Given the description of an element on the screen output the (x, y) to click on. 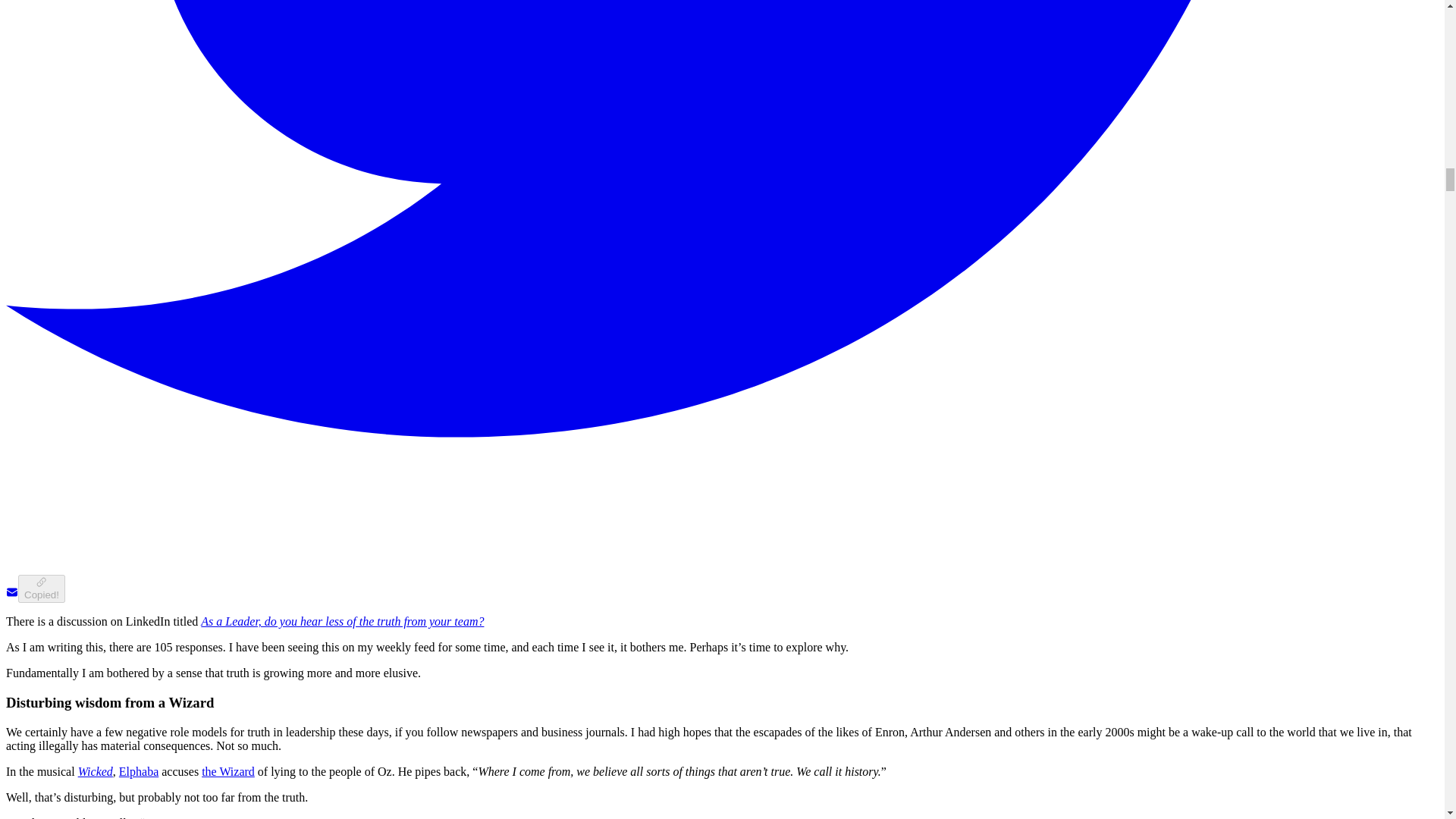
Copied! (41, 588)
As a Leader, do you hear less of the truth from your team? (341, 621)
Elphaba (138, 771)
Wicked (95, 771)
the Wizard (228, 771)
